Given the description of an element on the screen output the (x, y) to click on. 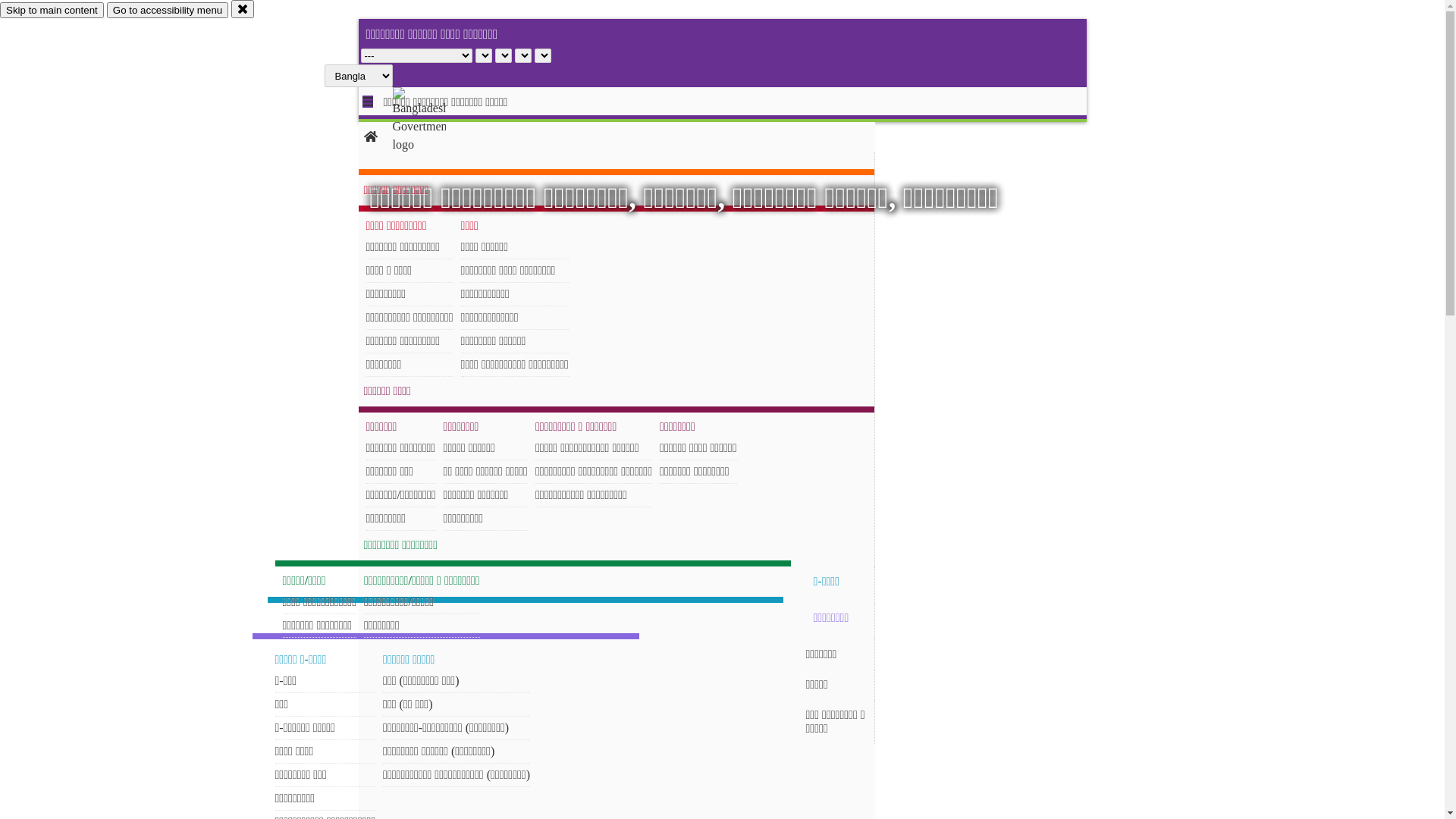
Skip to main content Element type: text (51, 10)

                
             Element type: hover (431, 120)
Go to accessibility menu Element type: text (167, 10)
close Element type: hover (242, 9)
